Given the description of an element on the screen output the (x, y) to click on. 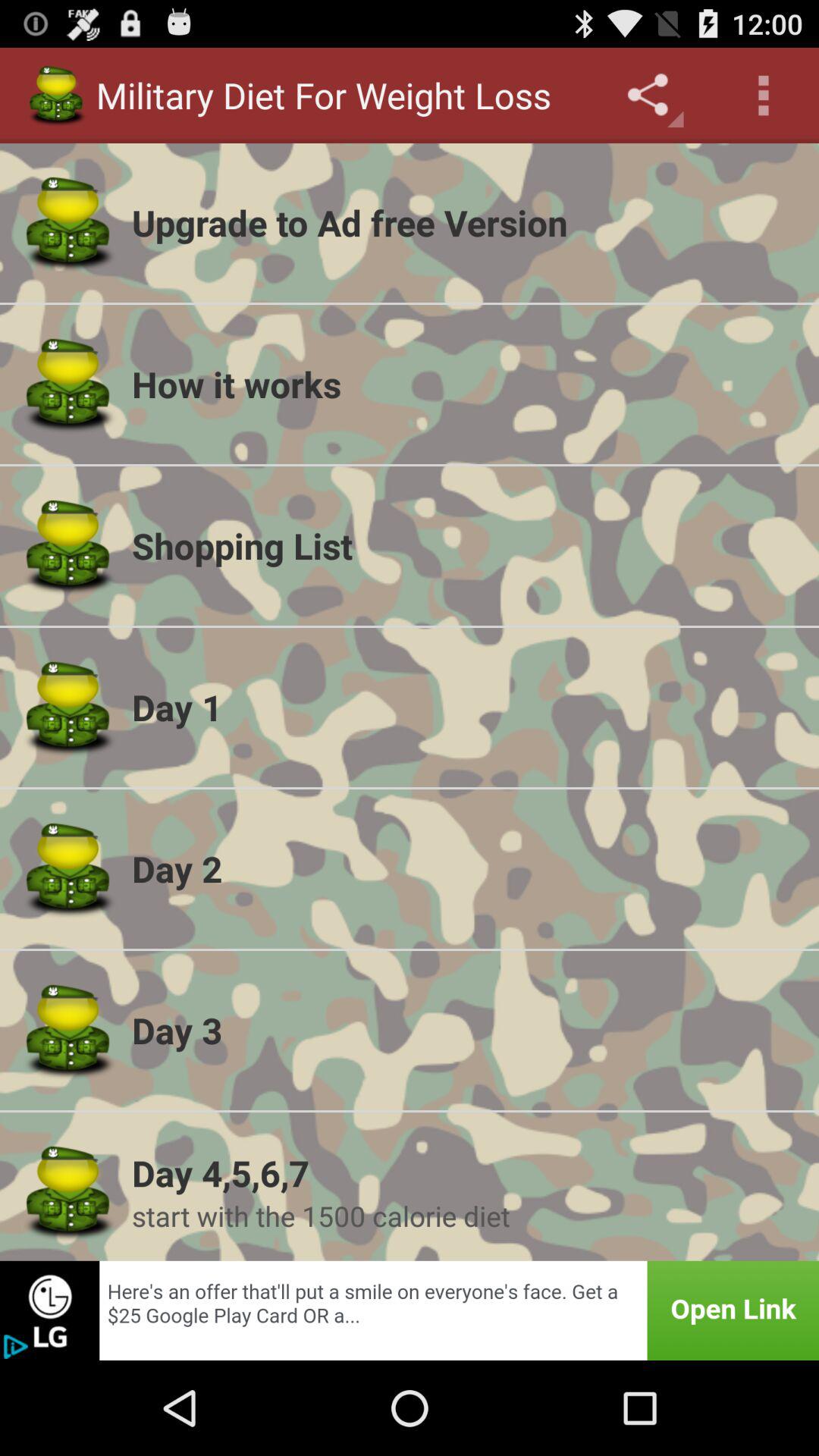
tap icon below the day 3 icon (465, 1172)
